Given the description of an element on the screen output the (x, y) to click on. 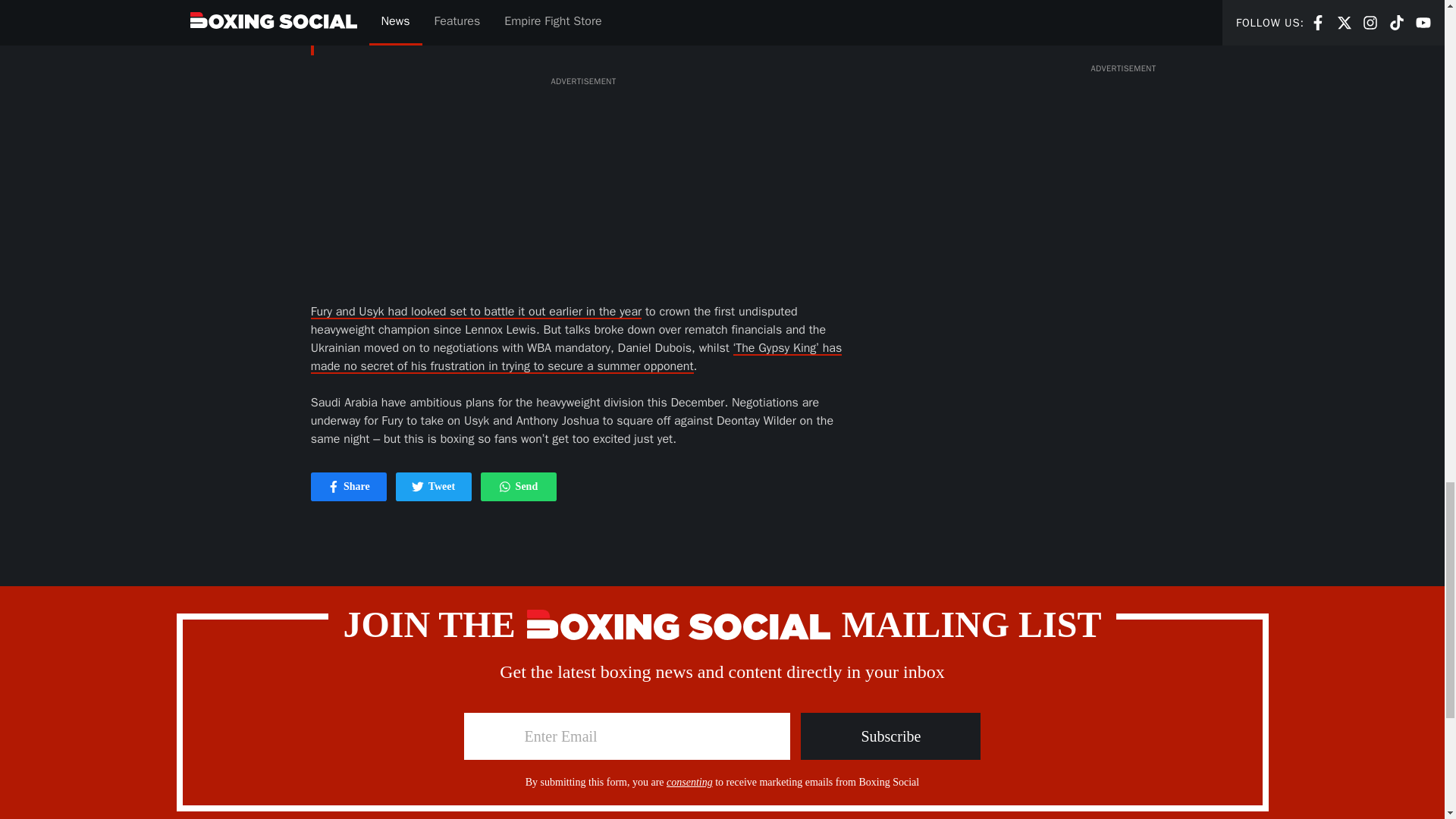
Subscribe (889, 736)
Subscribe (889, 736)
consenting (689, 781)
Facebook (333, 486)
Twitter (433, 487)
WhatsApp (417, 486)
